Given the description of an element on the screen output the (x, y) to click on. 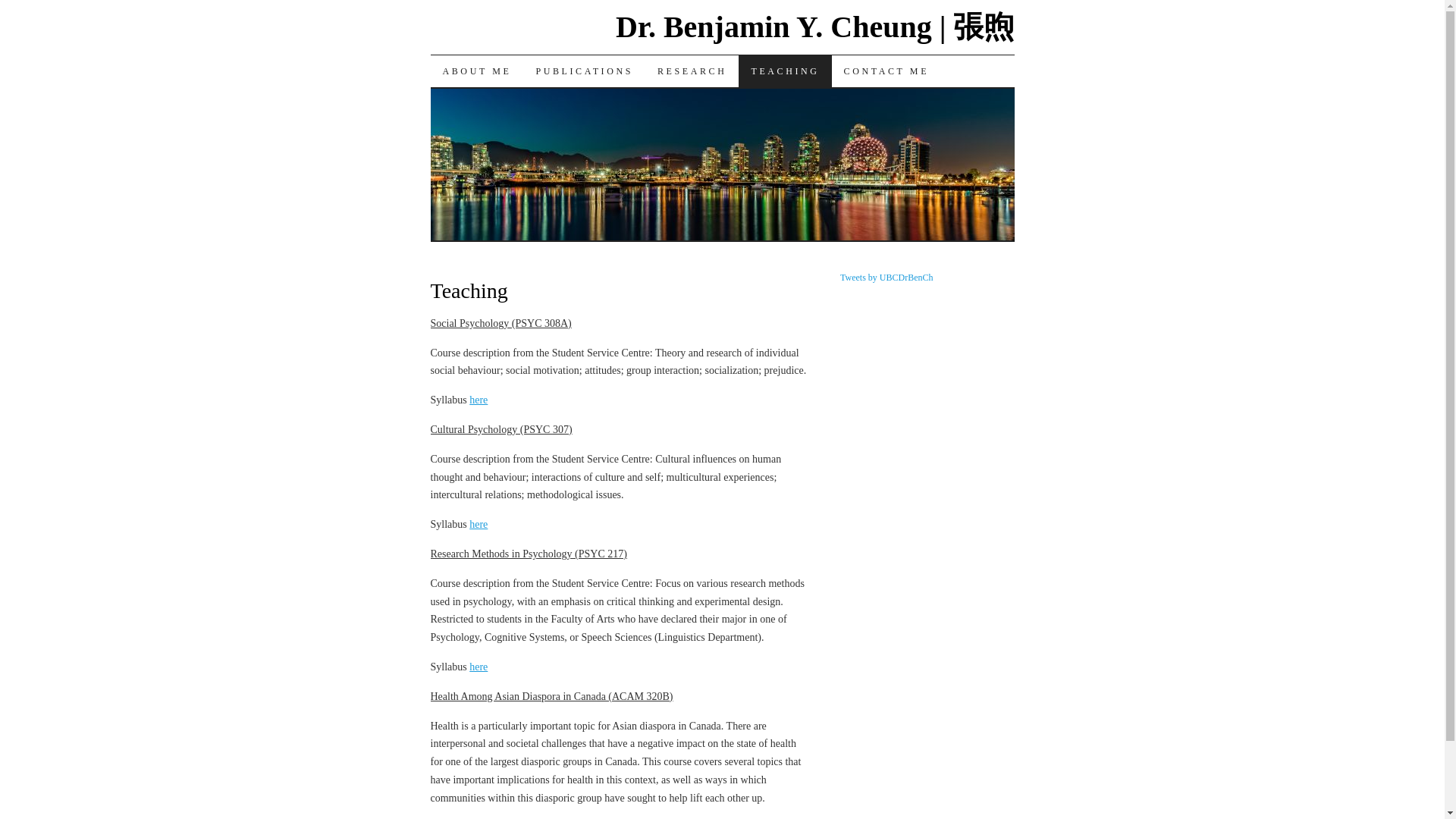
PUBLICATIONS (583, 70)
here (477, 666)
CONTACT ME (886, 70)
here (477, 523)
Tweets by UBCDrBenCh (886, 276)
here (477, 399)
ABOUT ME (477, 70)
TEACHING (784, 70)
RESEARCH (691, 70)
